Given the description of an element on the screen output the (x, y) to click on. 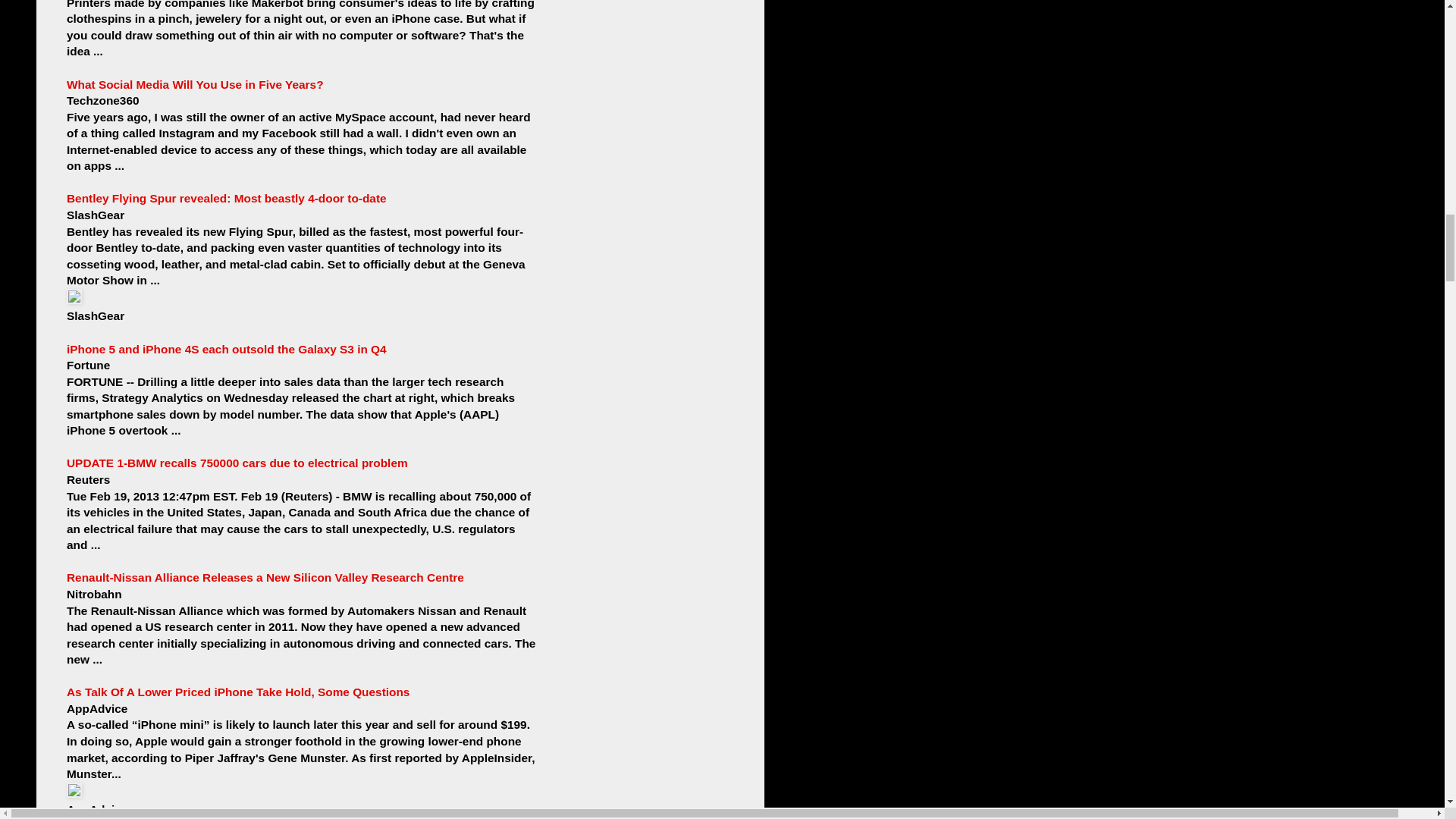
What Social Media Will You Use in Five Years? (194, 83)
As Talk Of A Lower Priced iPhone Take Hold, Some Questions (237, 691)
UPDATE 1-BMW recalls 750000 cars due to electrical problem (236, 462)
iPhone 5 and iPhone 4S each outsold the Galaxy S3 in Q4 (226, 349)
Bentley Flying Spur revealed: Most beastly 4-door to-date (226, 197)
